Given the description of an element on the screen output the (x, y) to click on. 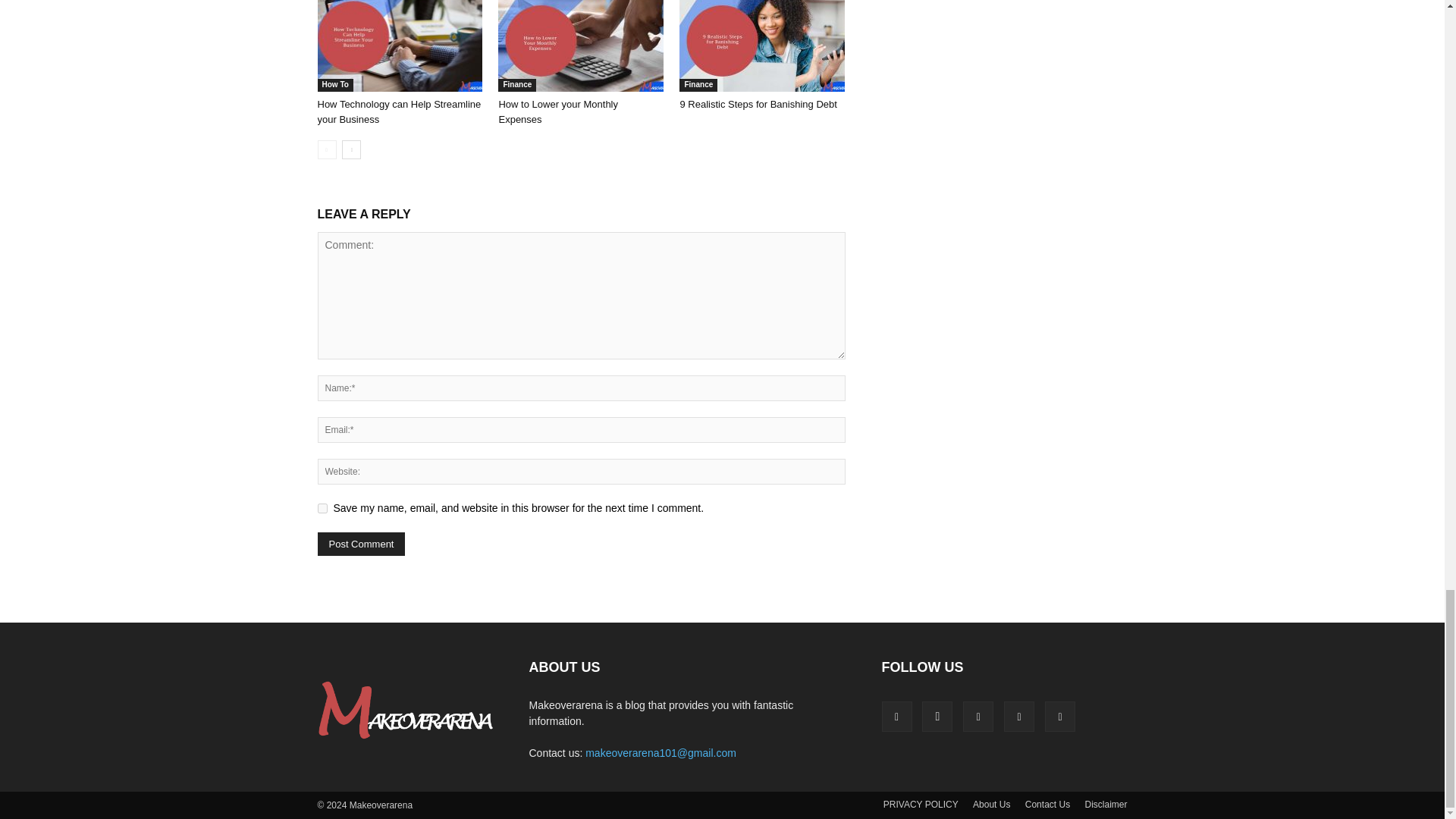
yes (321, 508)
Post Comment (360, 544)
